Given the description of an element on the screen output the (x, y) to click on. 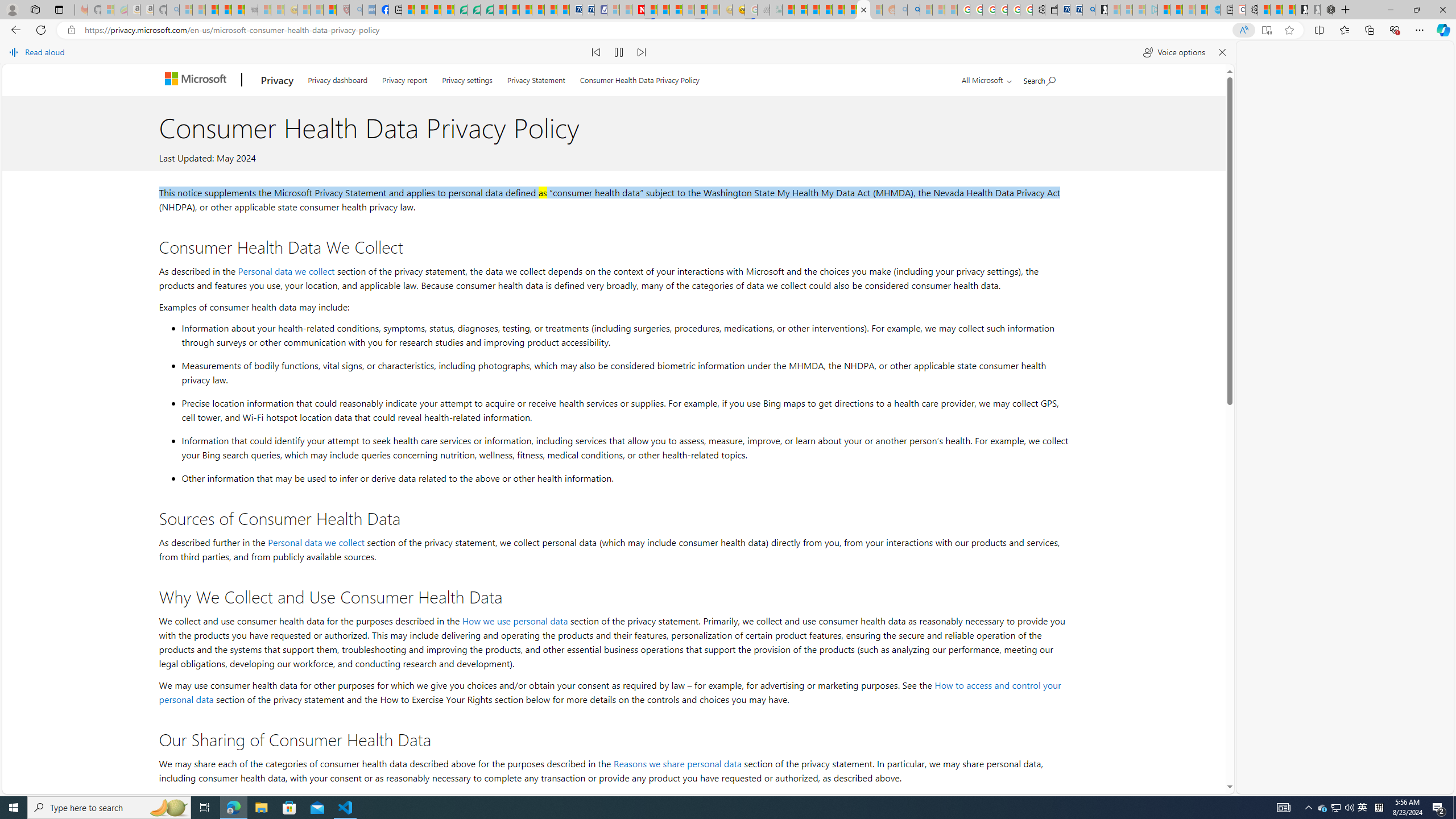
Trusted Community Engagement and Contributions | Guidelines (650, 9)
New Report Confirms 2023 Was Record Hot | Watch (237, 9)
Privacy Statement (535, 77)
Nordace - Nordace Siena Is Not An Ordinary Backpack (1327, 9)
list of asthma inhalers uk - Search - Sleeping (355, 9)
Personal data we collect (315, 541)
Privacy report (404, 77)
Read next paragraph (641, 52)
Privacy settings (466, 77)
Microsoft-Report a Concern to Bing - Sleeping (107, 9)
